Given the description of an element on the screen output the (x, y) to click on. 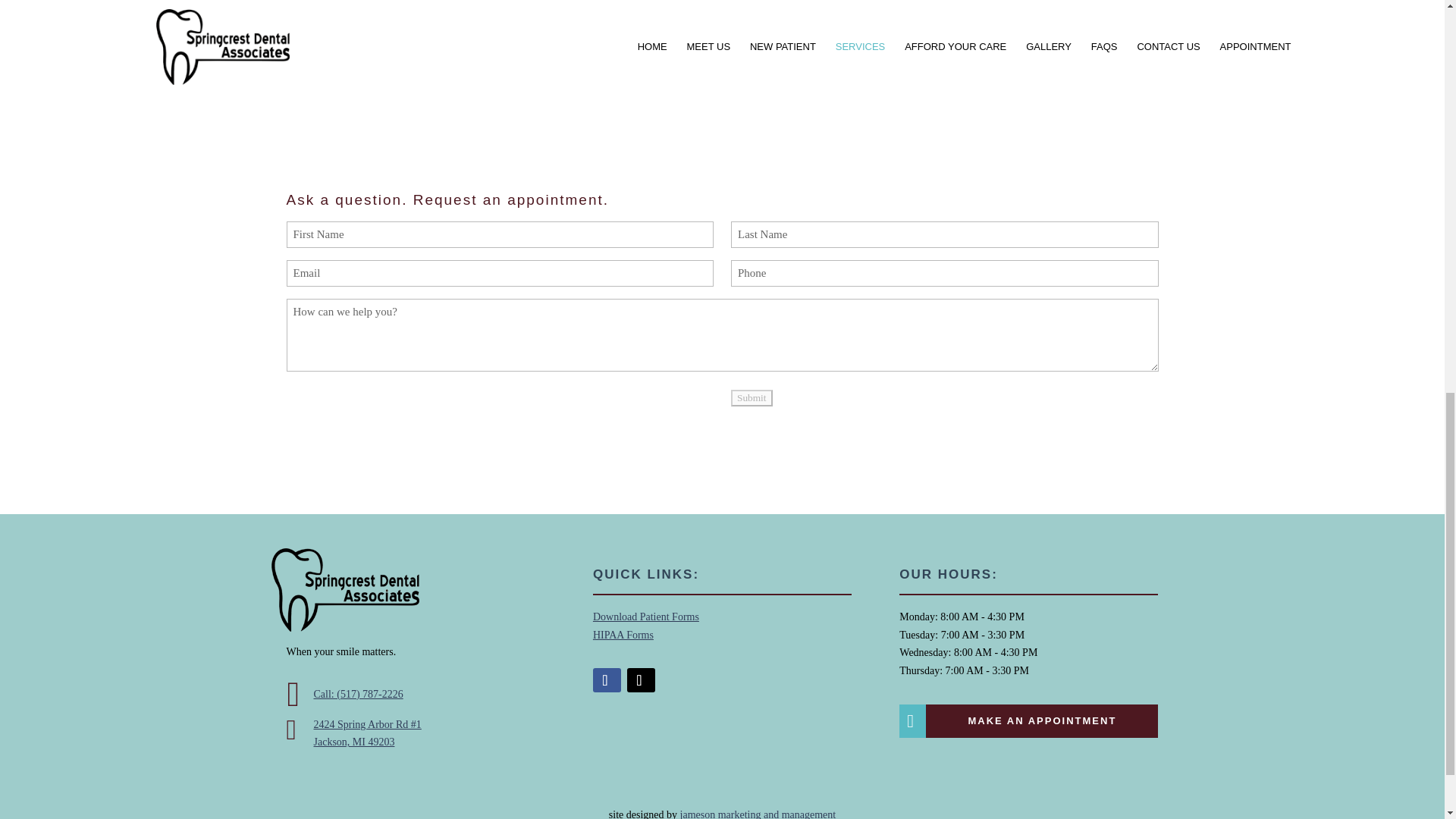
Submit (751, 397)
Follow on Facebook (606, 680)
Follow on Twitter (641, 680)
